Given the description of an element on the screen output the (x, y) to click on. 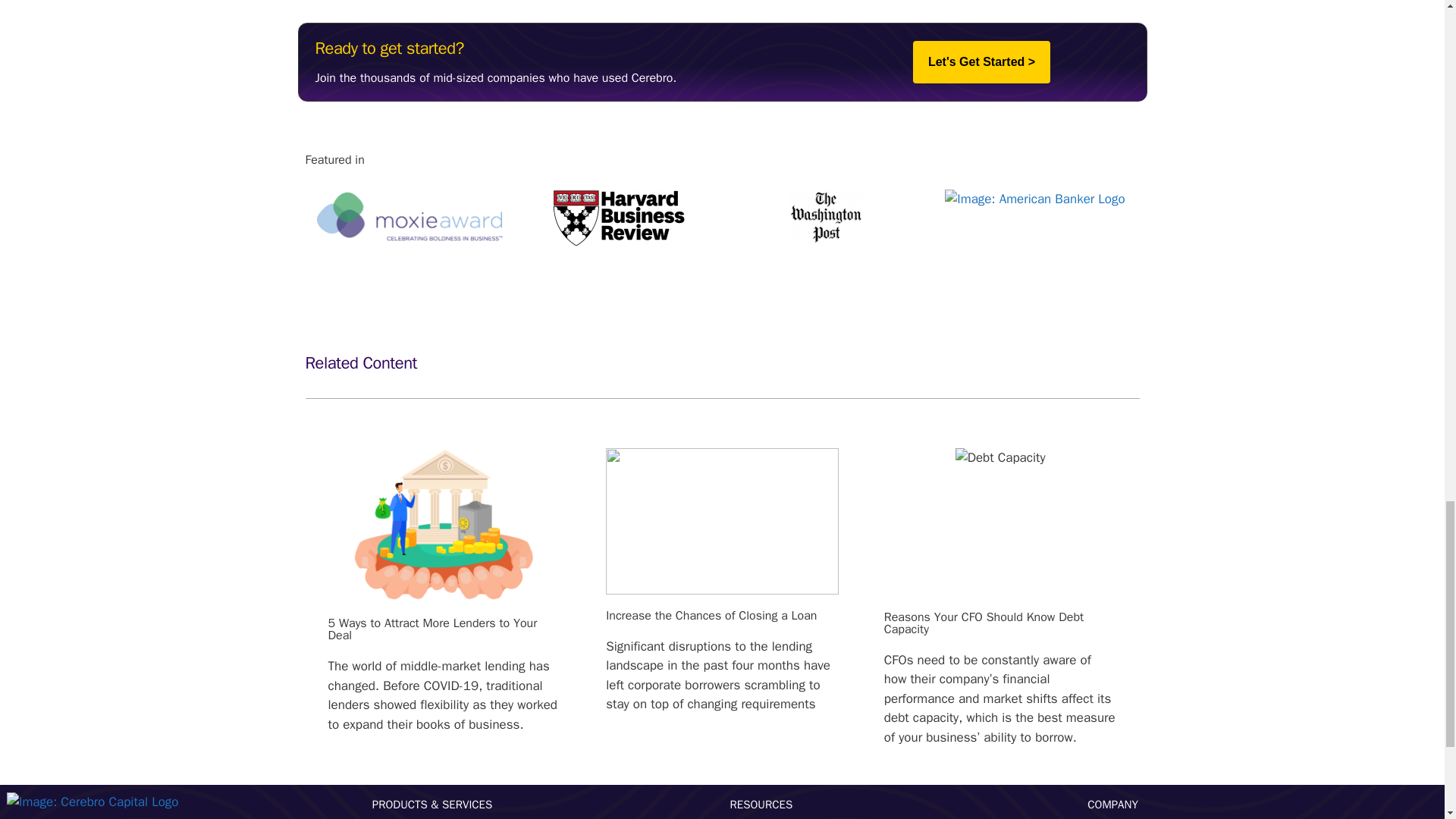
The Washington Post Logo (826, 217)
Cerebro Capital Logo (93, 802)
AB logo (1034, 199)
HBR (617, 217)
